Given the description of an element on the screen output the (x, y) to click on. 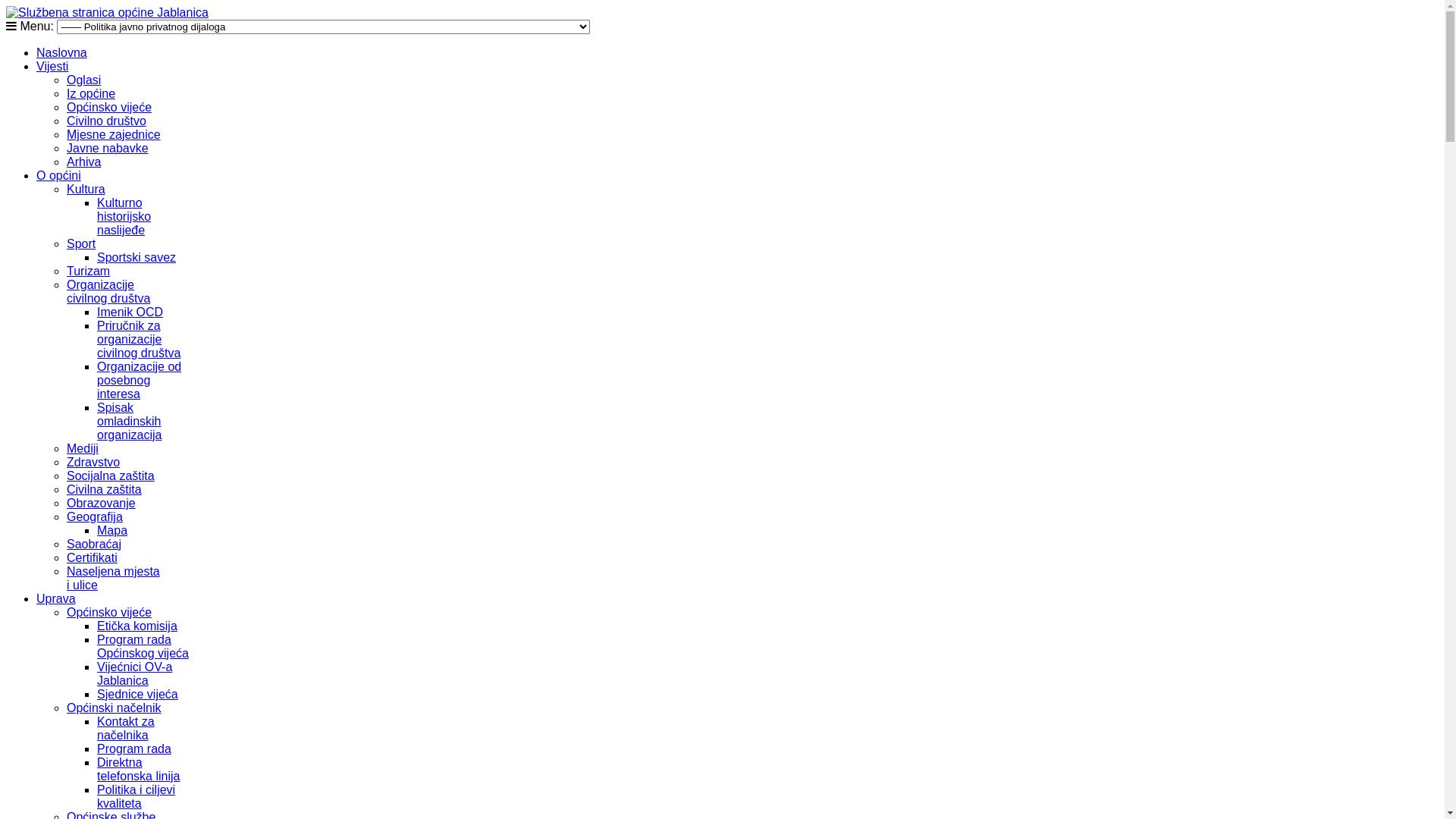
Direktna telefonska linija Element type: text (138, 769)
Oglasi Element type: text (83, 79)
Naseljena mjesta i ulice Element type: text (113, 577)
Vijesti Element type: text (52, 65)
Uprava Element type: text (55, 598)
Sport Element type: text (80, 243)
Politika i ciljevi kvaliteta Element type: text (136, 796)
Kultura Element type: text (85, 188)
Arhiva Element type: text (83, 161)
Obrazovanje Element type: text (100, 502)
Mjesne zajednice Element type: text (113, 134)
Sportski savez Element type: text (136, 257)
Zdravstvo Element type: text (92, 461)
Javne nabavke Element type: text (107, 147)
Mapa Element type: text (112, 530)
Program rada Element type: text (134, 748)
Naslovna Element type: text (61, 52)
Spisak omladinskih organizacija Element type: text (129, 421)
Imenik OCD Element type: text (130, 311)
Certifikati Element type: text (91, 557)
Geografija Element type: text (94, 516)
Turizam Element type: text (87, 270)
Organizacije od posebnog interesa Element type: text (139, 380)
Mediji Element type: text (82, 448)
